Given the description of an element on the screen output the (x, y) to click on. 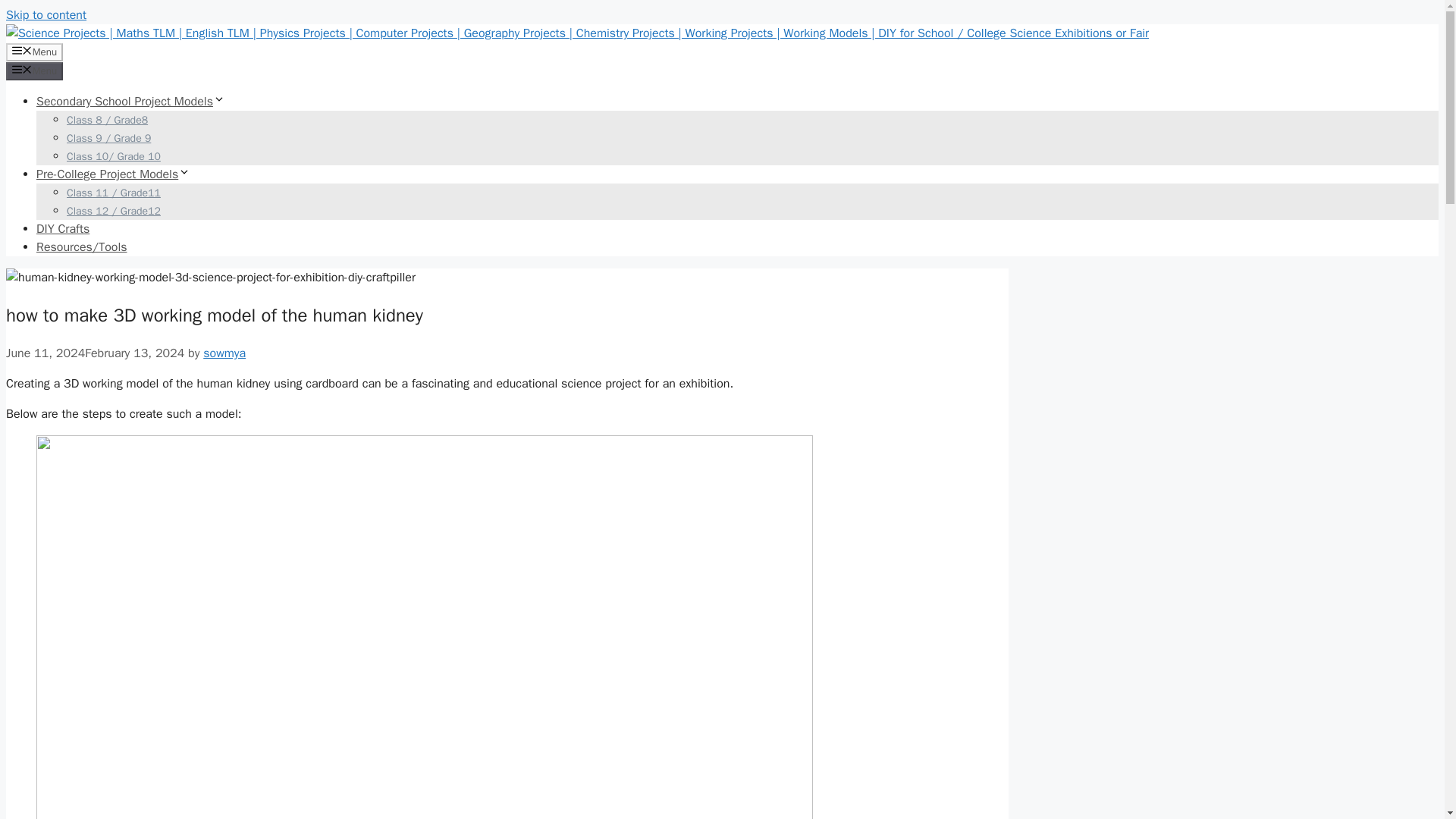
Pre-College Project Models (113, 174)
View all posts by sowmya (224, 353)
Menu (33, 52)
DIY Crafts (62, 228)
sowmya (224, 353)
Secondary School Project Models (130, 101)
Skip to content (45, 14)
Menu (33, 71)
Skip to content (45, 14)
